Given the description of an element on the screen output the (x, y) to click on. 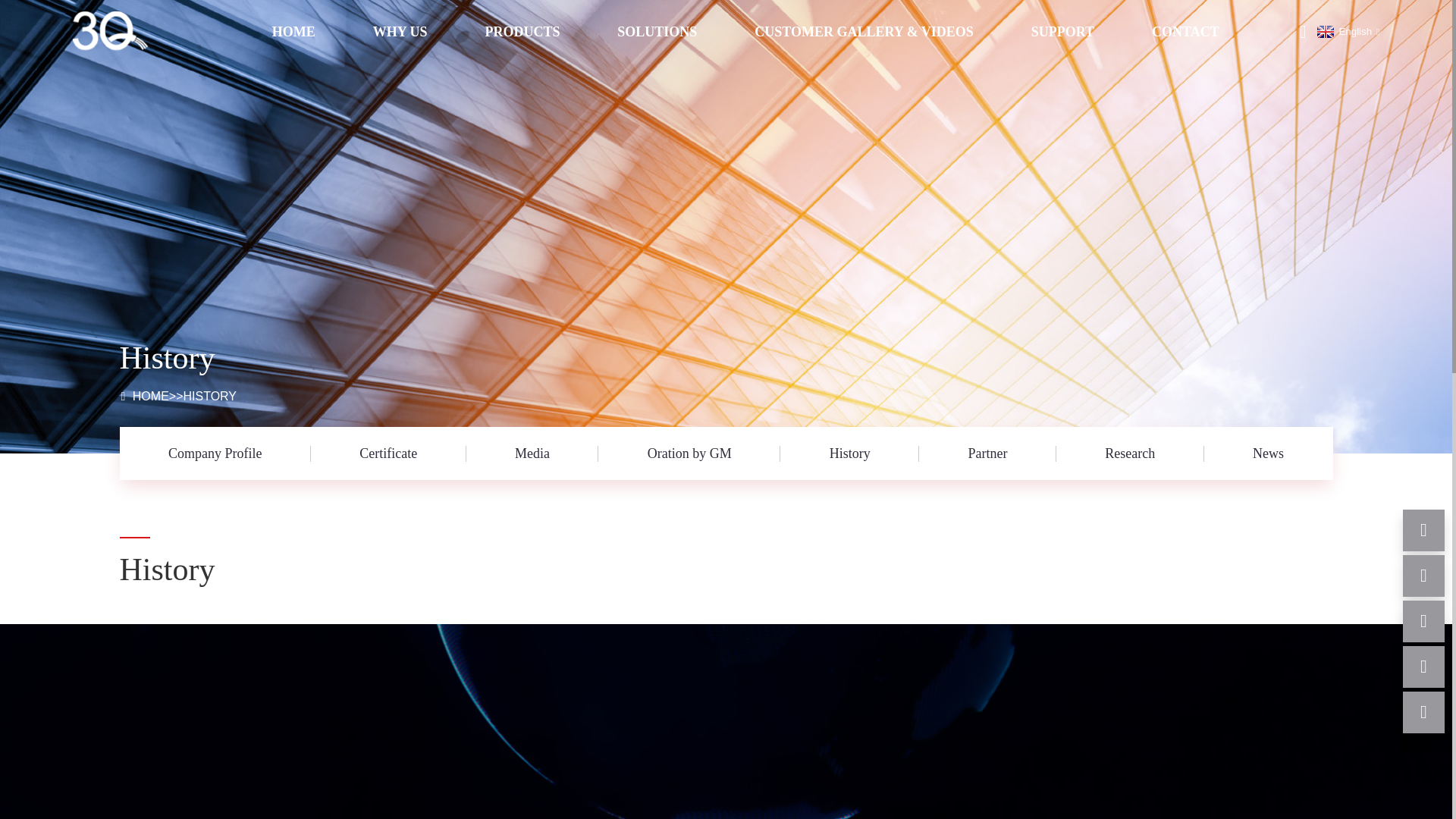
English Element type: text (1346, 31)
HOME Element type: text (150, 395)
SUPPORT Element type: text (1062, 32)
Media Element type: text (532, 453)
HOME Element type: text (293, 32)
Company Profile Element type: text (214, 453)
CONTACT Element type: text (1185, 32)
PRODUCTS Element type: text (521, 32)
Partner Element type: text (987, 453)
WHY US Element type: text (400, 32)
Research Element type: text (1130, 453)
Oration by GM Element type: text (689, 453)
Certificate Element type: text (388, 453)
SOLUTIONS Element type: text (656, 32)
HISTORY Element type: text (209, 395)
News Element type: text (1268, 453)
History Element type: text (849, 453)
head_banner Element type: hover (726, 226)
CUSTOMER GALLERY & VIDEOS Element type: text (863, 32)
